Given the description of an element on the screen output the (x, y) to click on. 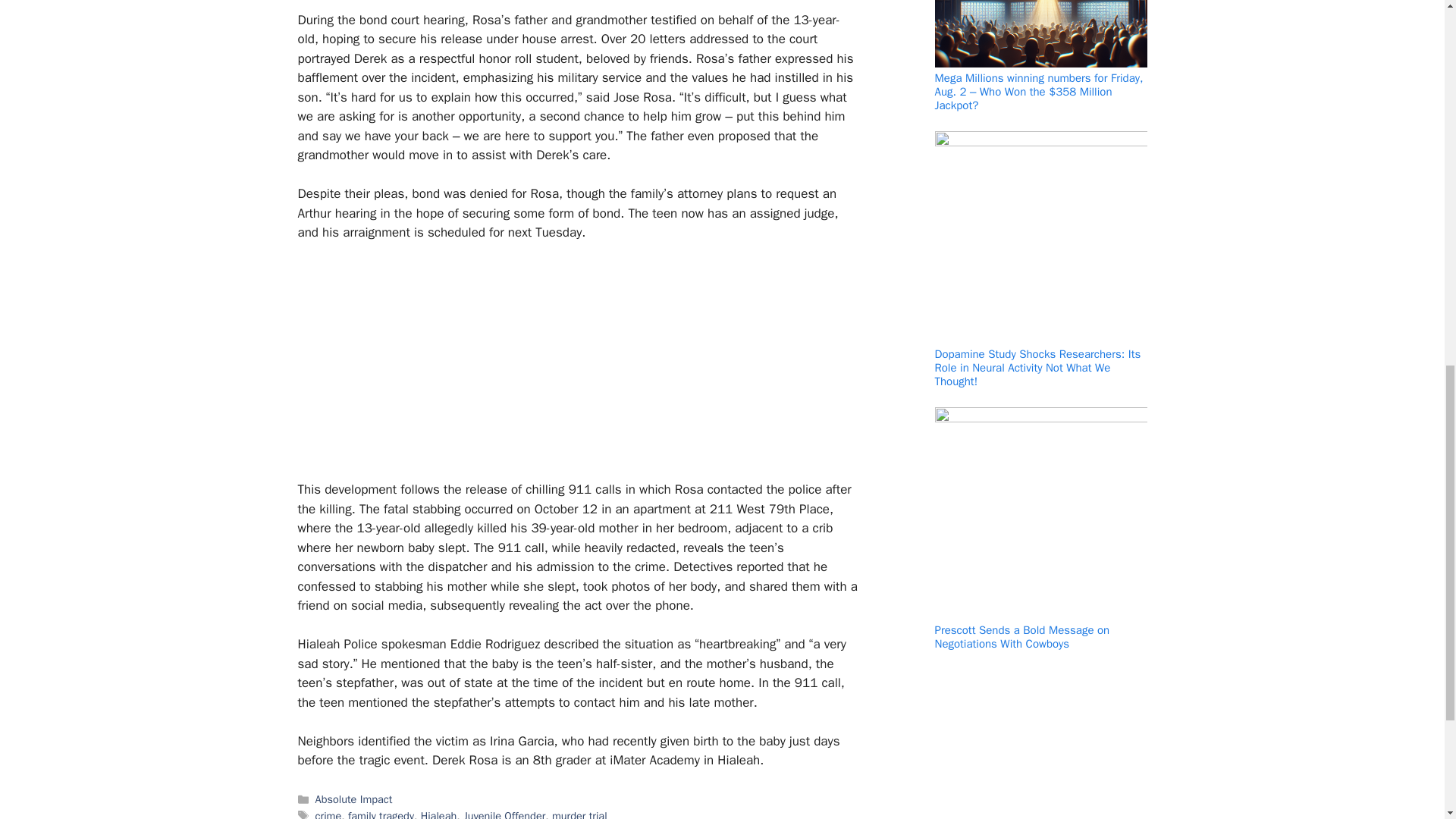
Absolute Impact (354, 798)
Juvenile Offender (503, 814)
Hialeah (438, 814)
Prescott Sends a Bold Message on Negotiations With Cowboys (1021, 636)
murder trial (579, 814)
crime (328, 814)
family tragedy (380, 814)
